Given the description of an element on the screen output the (x, y) to click on. 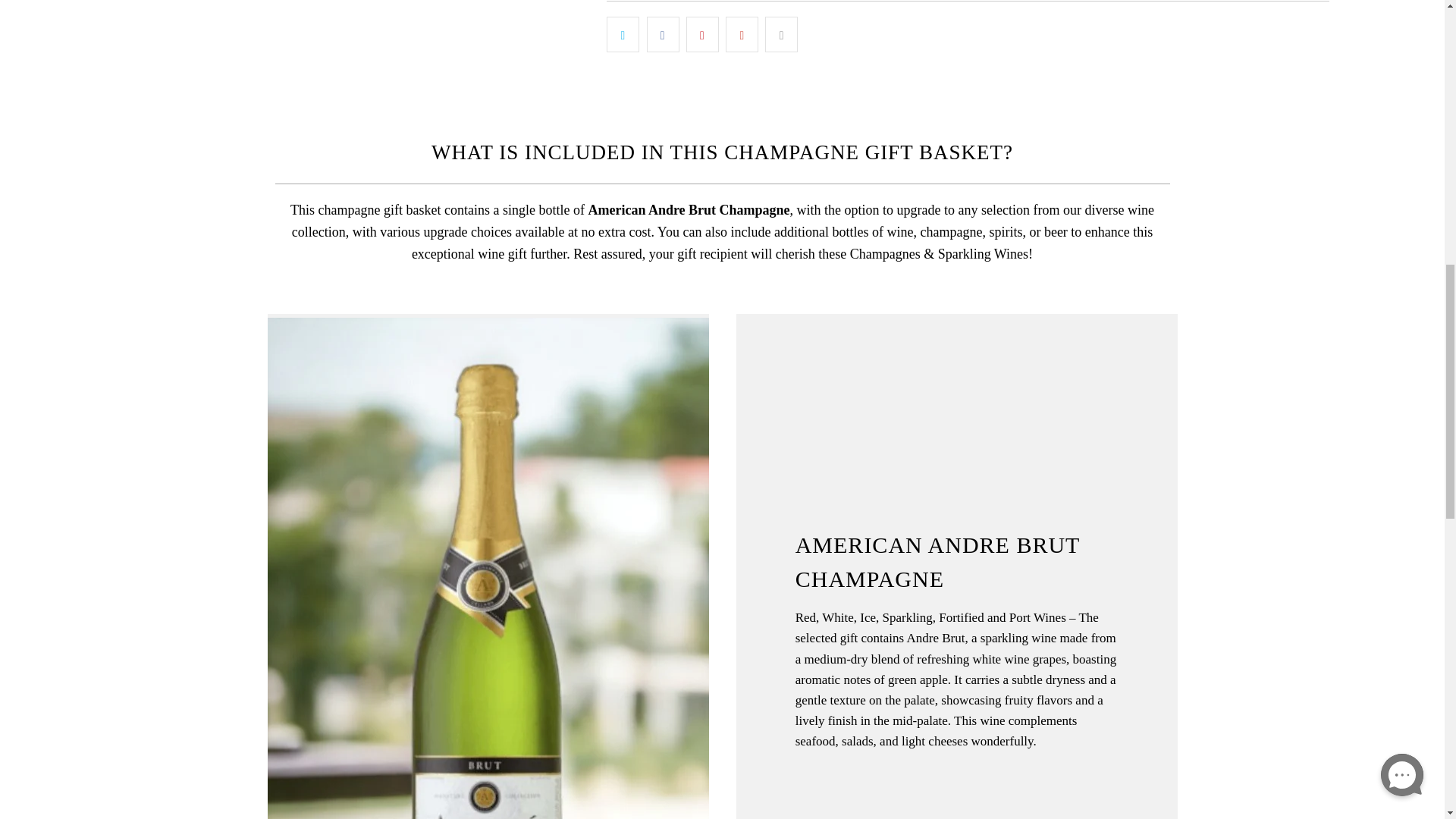
Email this to a friend (781, 34)
Share this on Pinterest (702, 34)
Share this on Facebook (662, 34)
Share this on Twitter (623, 34)
